Given the description of an element on the screen output the (x, y) to click on. 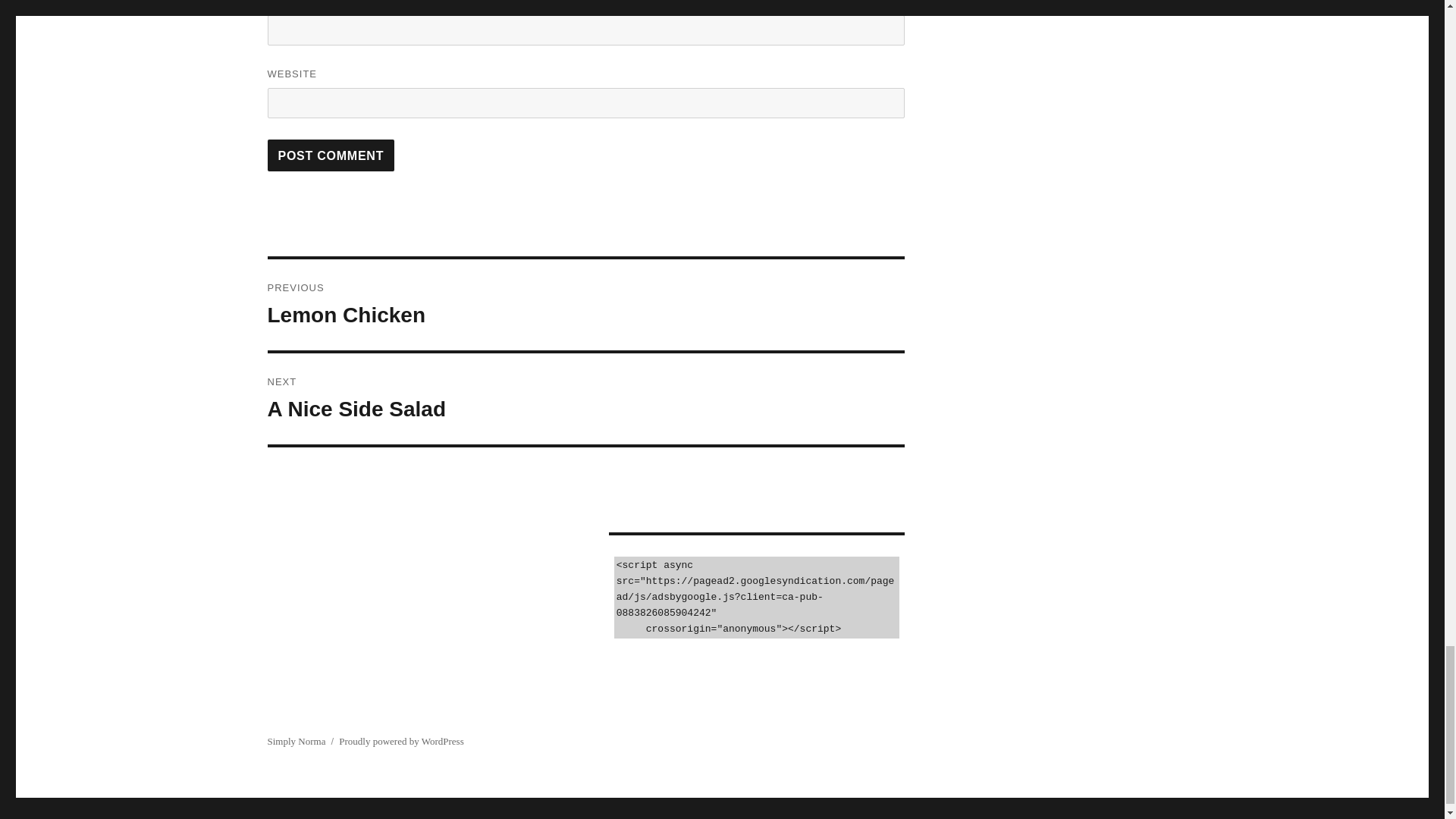
Post Comment (330, 155)
Post Comment (330, 155)
